Given the description of an element on the screen output the (x, y) to click on. 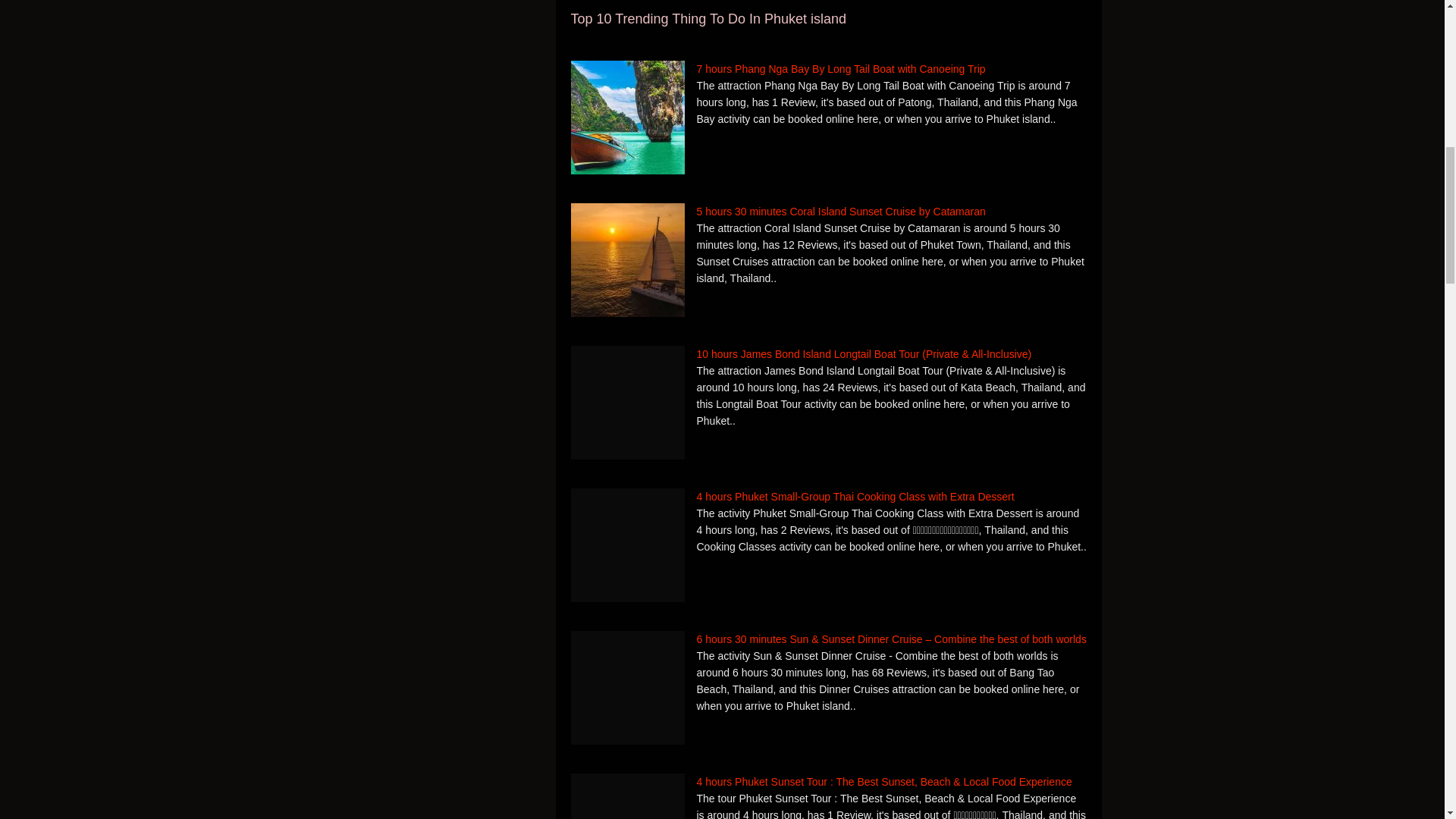
7 hours Phang Nga Bay By Long Tail Boat with Canoeing Trip (828, 68)
Coral Island Sunset Cruise by Catamaran - Sunset Cruises (627, 259)
5 hours 30 minutes Coral Island Sunset Cruise by Catamaran (828, 211)
